Given the description of an element on the screen output the (x, y) to click on. 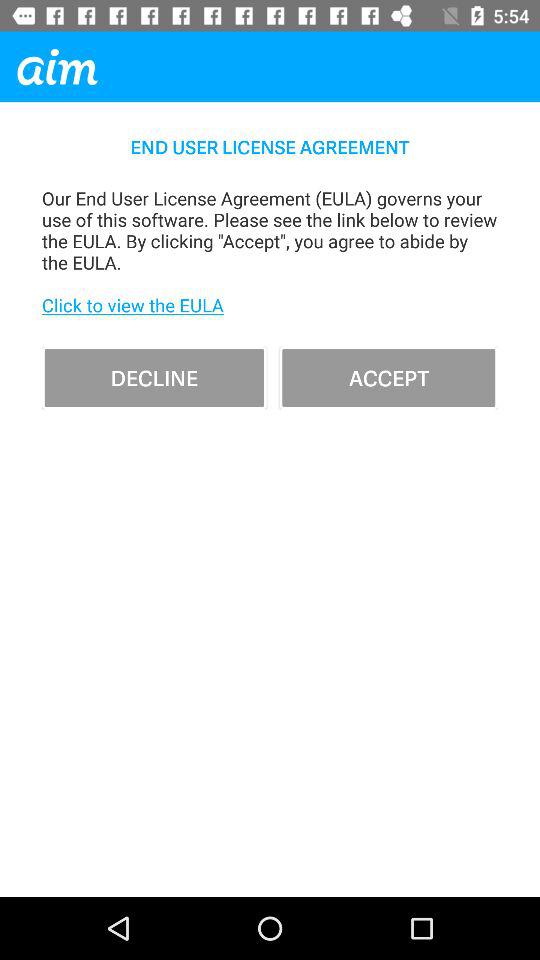
scroll until the decline icon (154, 377)
